Given the description of an element on the screen output the (x, y) to click on. 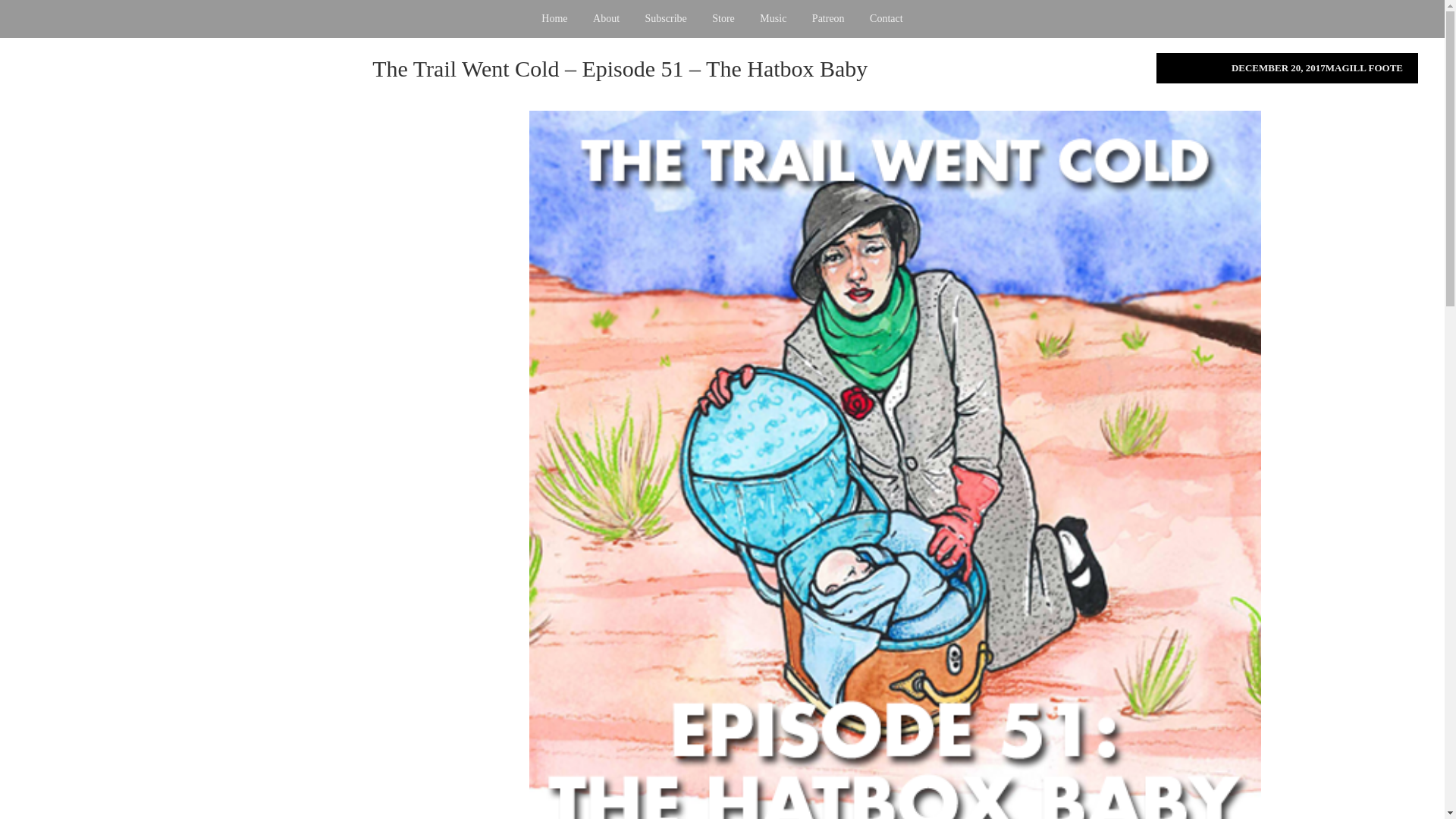
About (606, 18)
Patreon (828, 18)
The Trail Went Cold (181, 200)
Store (723, 18)
DECEMBER 20, 2017 (1277, 67)
Music (773, 18)
Home (554, 18)
MAGILL FOOTE (1363, 67)
Subscribe (666, 18)
